Given the description of an element on the screen output the (x, y) to click on. 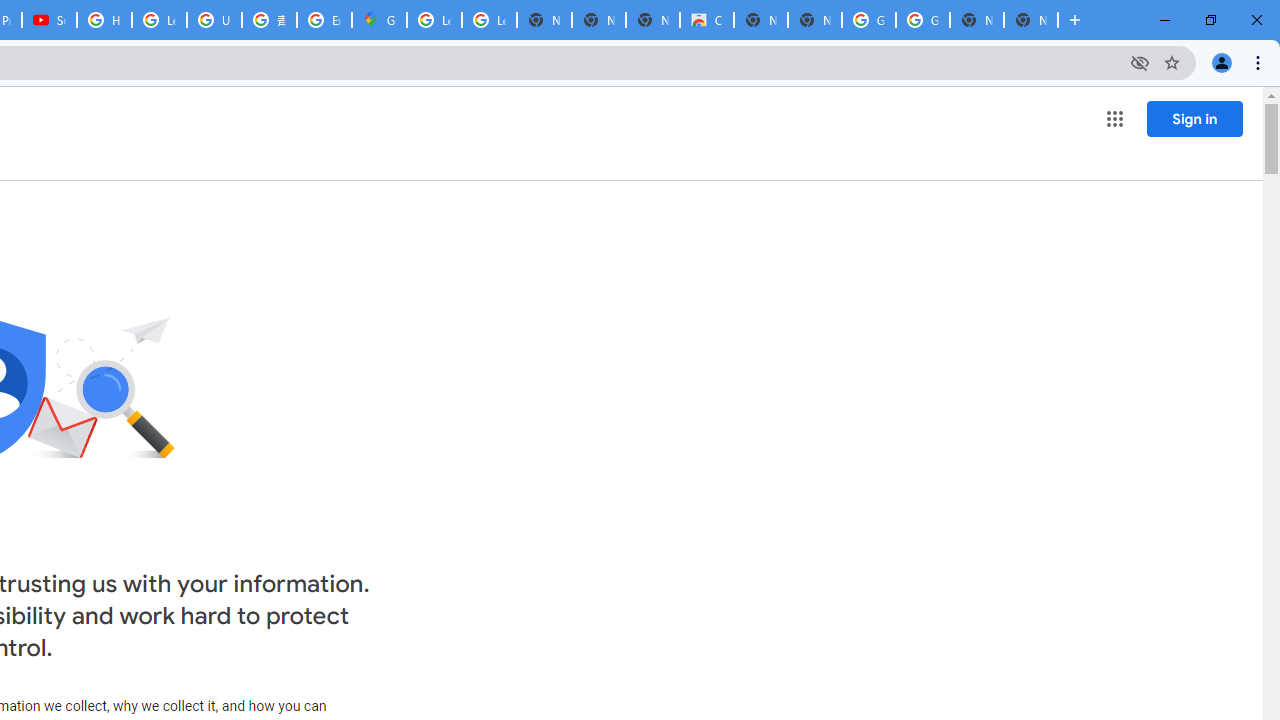
How Chrome protects your passwords - Google Chrome Help (103, 20)
Google Images (922, 20)
Chrome Web Store (706, 20)
Google Maps (379, 20)
New Tab (1030, 20)
